Given the description of an element on the screen output the (x, y) to click on. 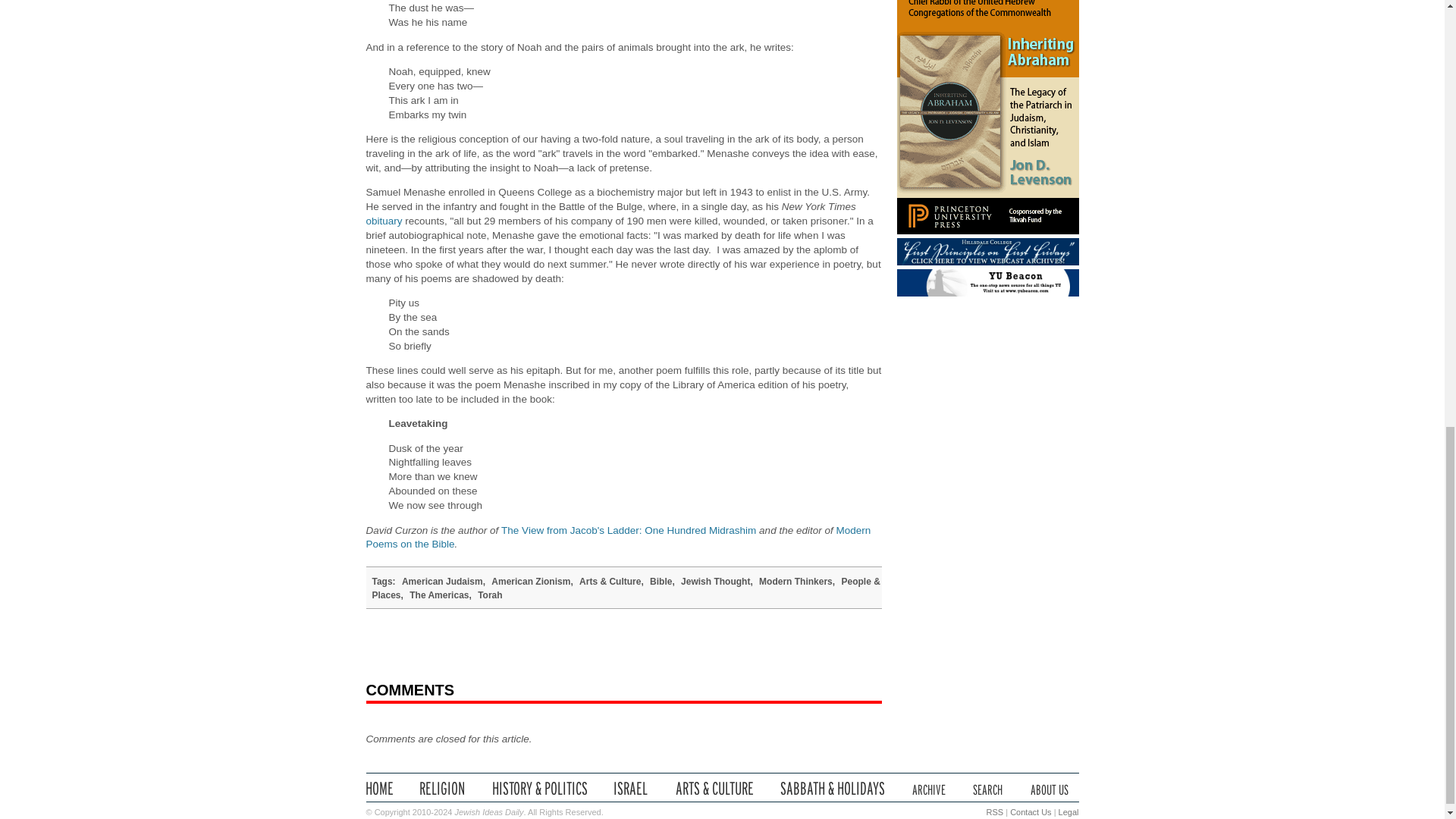
The Americas (438, 594)
Bible (660, 581)
American Judaism (442, 581)
obituary (383, 220)
Torah (489, 594)
American Zionism (531, 581)
